Given the description of an element on the screen output the (x, y) to click on. 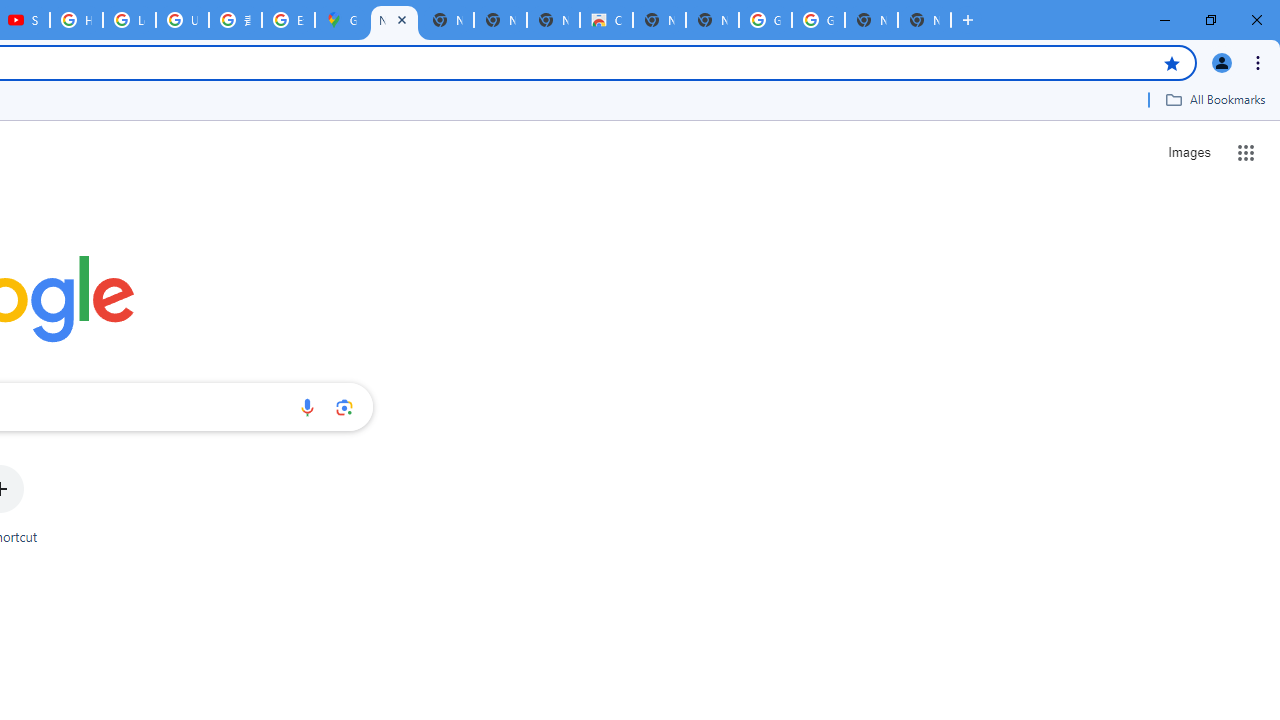
Google Images (818, 20)
New Tab (924, 20)
Search for Images  (1188, 152)
All Bookmarks (1215, 99)
Chrome Web Store (606, 20)
Google Maps (341, 20)
Explore new street-level details - Google Maps Help (288, 20)
How Chrome protects your passwords - Google Chrome Help (76, 20)
Search by voice (307, 407)
Search by image (344, 407)
